Given the description of an element on the screen output the (x, y) to click on. 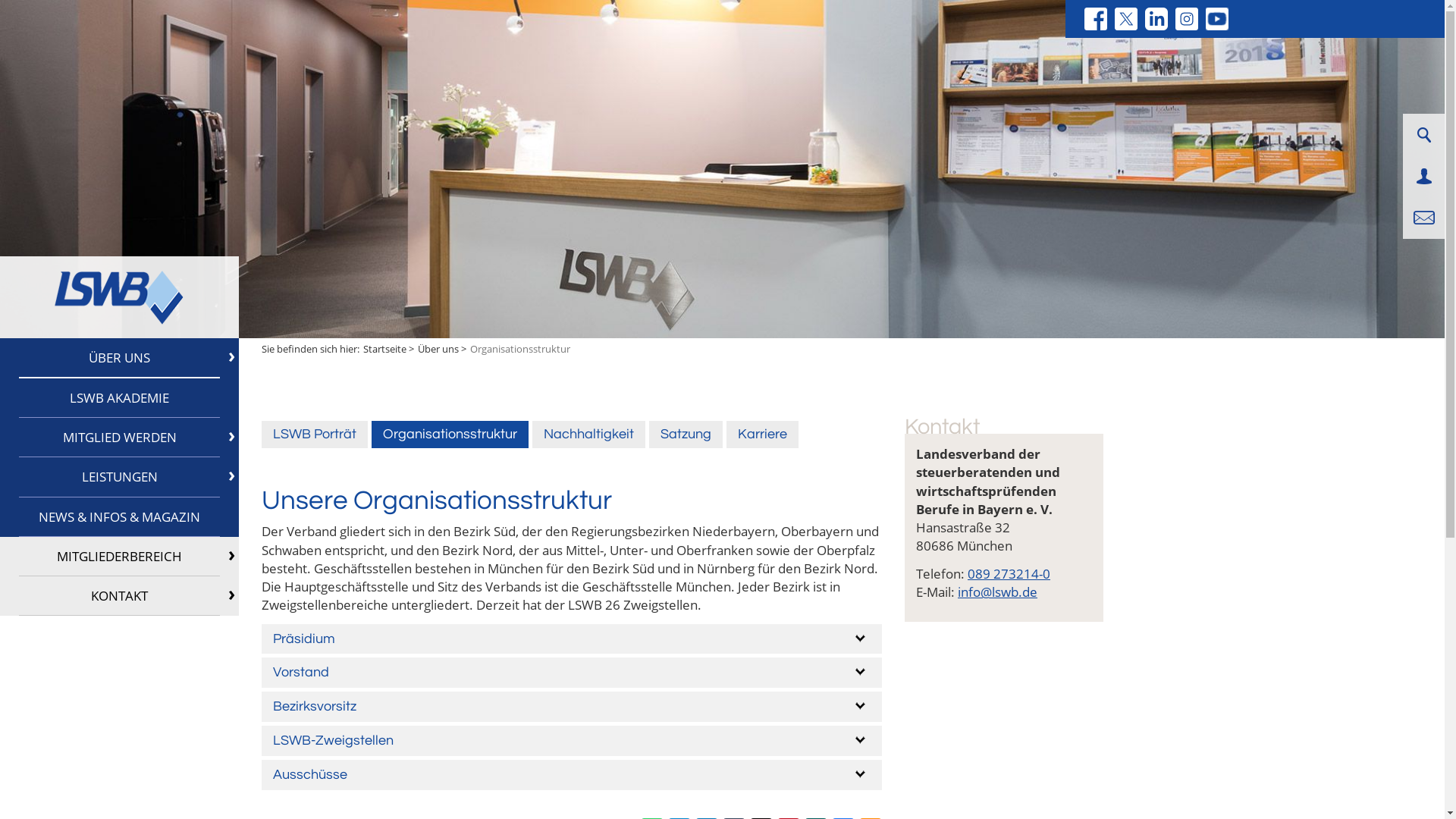
LSWB bei Facebook Element type: hover (1095, 18)
LSWB bei Youtube Element type: hover (1216, 18)
Kontakt Element type: hover (1423, 217)
Suche Element type: hover (1423, 134)
Nachhaltigkeit Element type: text (588, 434)
LSWB Element type: hover (119, 296)
Karriere Element type: text (762, 434)
MITGLIEDERBEREICH Element type: text (119, 556)
Bezirksvorsitz Element type: text (571, 706)
Satzung Element type: text (685, 434)
LEISTUNGEN Element type: text (119, 476)
LSWB bei Instagram Element type: hover (1186, 18)
Startseite Element type: text (384, 348)
LSWB-Zweigstellen Element type: text (571, 740)
Login Element type: hover (1423, 176)
Vorstand Element type: text (571, 672)
089 273214-0 Element type: text (1008, 573)
Organisationsstruktur Element type: text (449, 434)
LSWB bei Twitter Element type: hover (1125, 18)
LSWB bei LinkedIn Element type: hover (1156, 18)
info@lswb.de Element type: text (997, 591)
NEWS & INFOS & MAGAZIN Element type: text (119, 516)
LSWB AKADEMIE Element type: text (119, 397)
KONTAKT Element type: text (119, 595)
MITGLIED WERDEN Element type: text (119, 437)
